Given the description of an element on the screen output the (x, y) to click on. 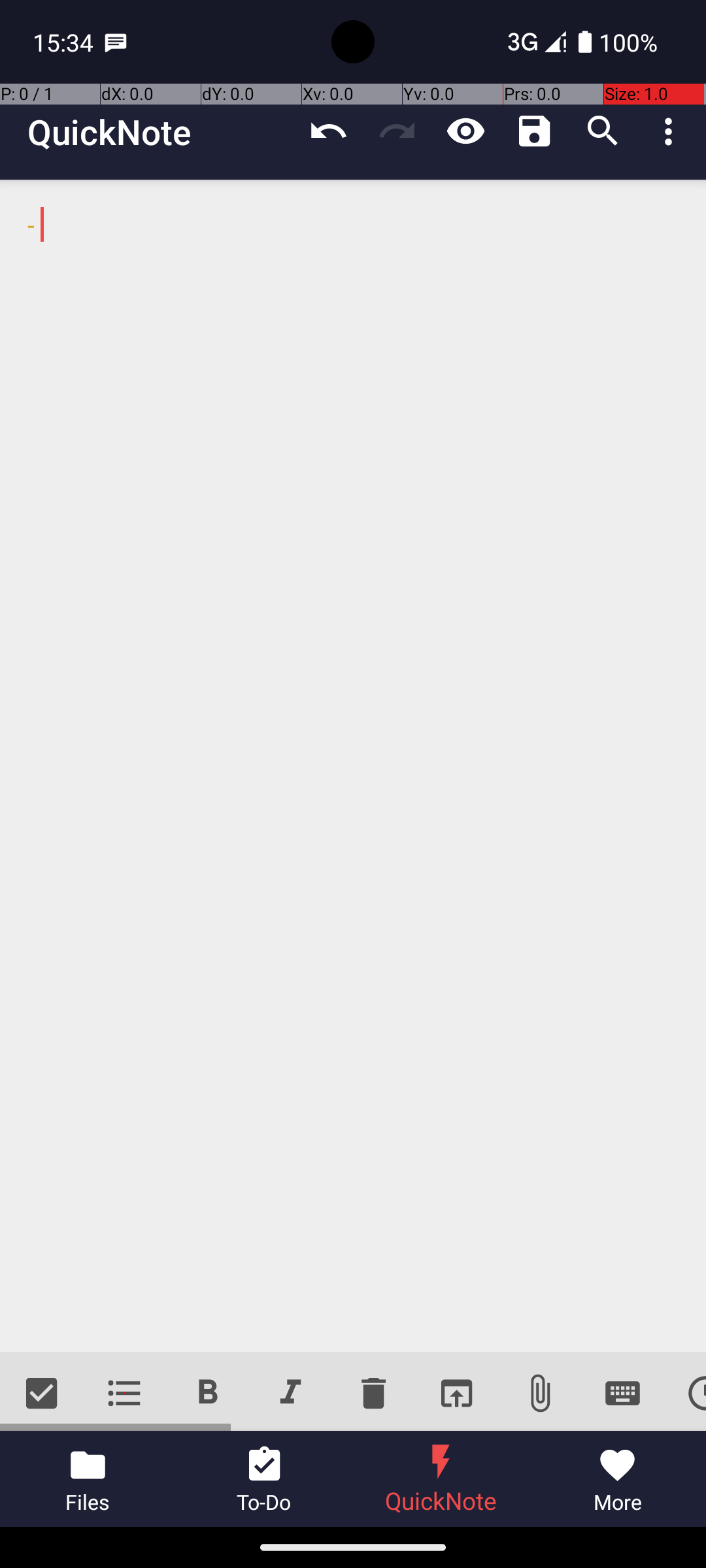
-  Element type: android.widget.EditText (353, 765)
